Given the description of an element on the screen output the (x, y) to click on. 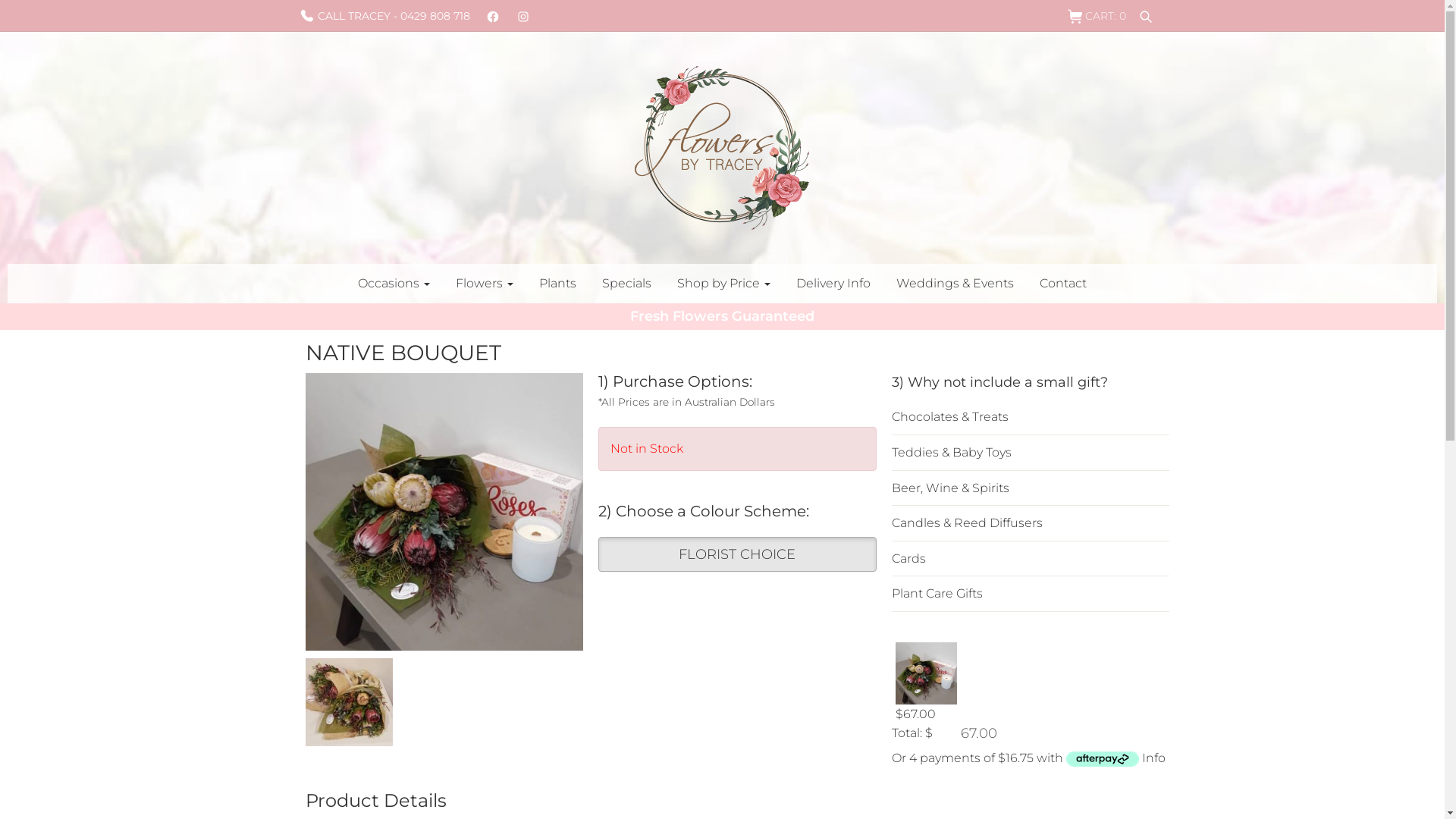
Fresh Flowers By Tracey Element type: hover (721, 147)
Teddies & Baby Toys Element type: text (1030, 452)
CART: 0 Element type: text (1095, 16)
Contact Element type: text (1063, 283)
CALL TRACEY - 0429 808 718 Element type: text (382, 16)
Delivery Info Element type: text (832, 283)
Shop by Price Element type: text (723, 283)
Weddings & Events Element type: text (954, 283)
Native Bouquet Element type: hover (348, 702)
Candles & Reed Diffusers Element type: text (1030, 523)
Chocolates & Treats Element type: text (1030, 416)
Beer, Wine & Spirits Element type: text (1030, 488)
Specials Element type: text (626, 283)
Cards Element type: text (1030, 558)
Native Bouquet Element type: hover (443, 512)
INSTAGRAM Element type: text (523, 15)
Plants Element type: text (557, 283)
Occasions Element type: text (393, 283)
Info Element type: text (1153, 757)
Flowers Element type: text (484, 283)
Plant Care Gifts Element type: text (1030, 593)
